Given the description of an element on the screen output the (x, y) to click on. 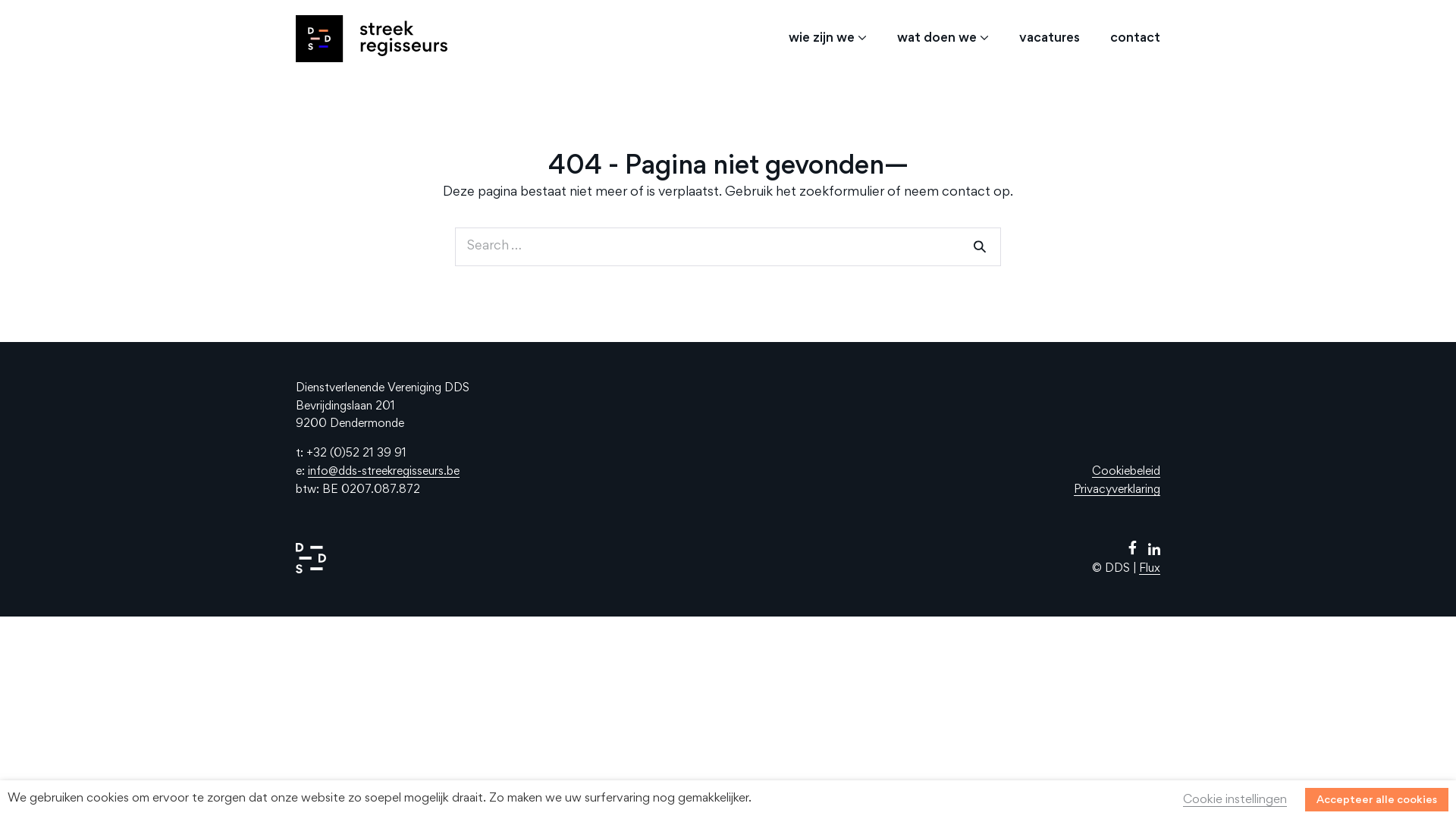
Cookiebeleid Element type: text (1126, 471)
DDS Streekregisseurs Element type: hover (371, 38)
Facebook Element type: hover (1132, 549)
wat doen we Element type: text (942, 38)
Accepteer alle cookies Element type: text (1376, 799)
Linkedin Element type: hover (1154, 551)
info@dds-streekregisseurs.be Element type: text (383, 471)
Cookie instellingen Element type: text (1234, 800)
contact Element type: text (1127, 38)
Press enter to search Element type: hover (728, 246)
Privacyverklaring Element type: text (1116, 489)
wie zijn we Element type: text (827, 38)
Search Element type: text (979, 246)
Flux Element type: text (1149, 568)
vacatures Element type: text (1049, 38)
